Given the description of an element on the screen output the (x, y) to click on. 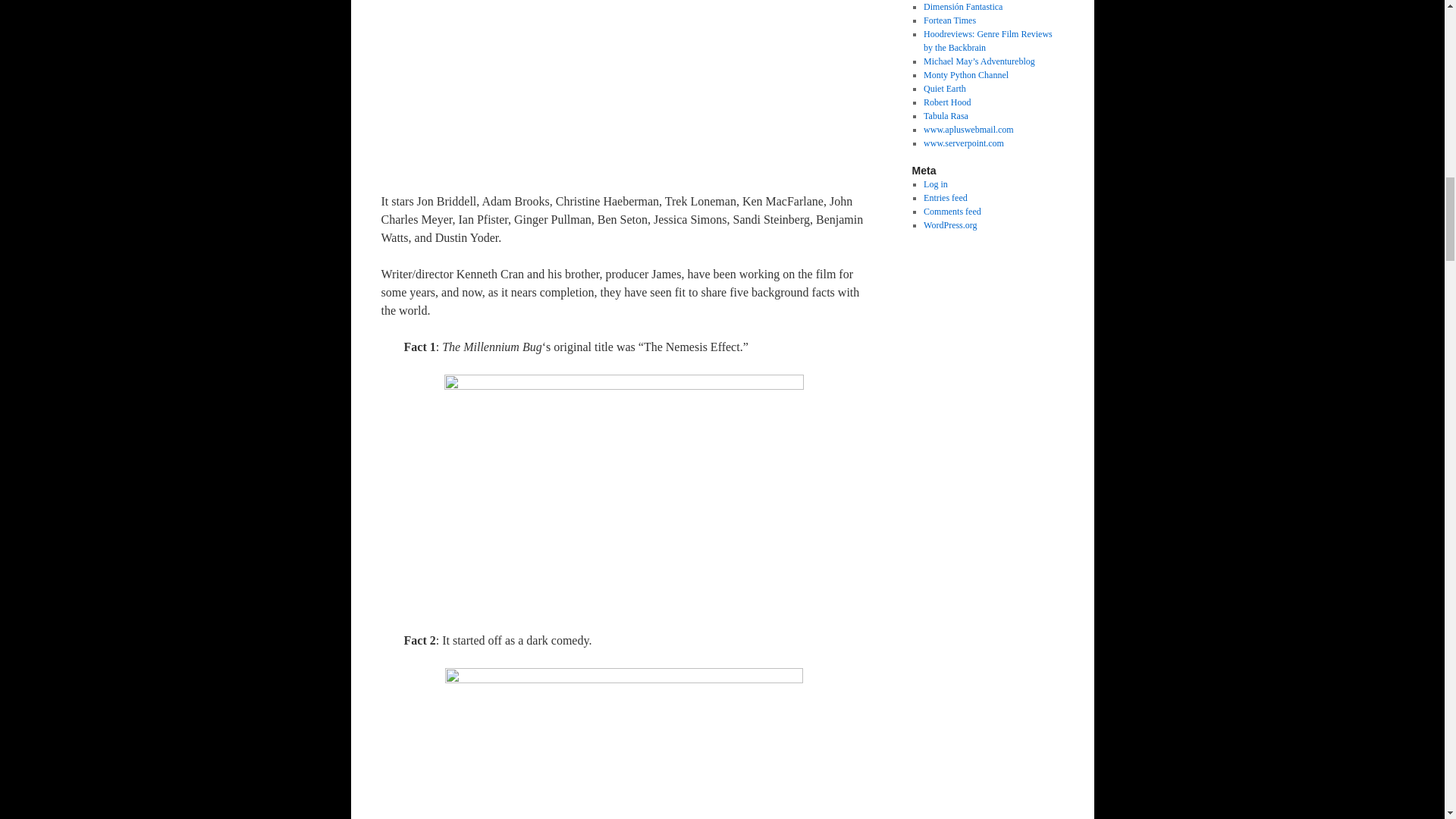
mb04 (623, 743)
mb03 (623, 493)
mb07 (623, 87)
